Given the description of an element on the screen output the (x, y) to click on. 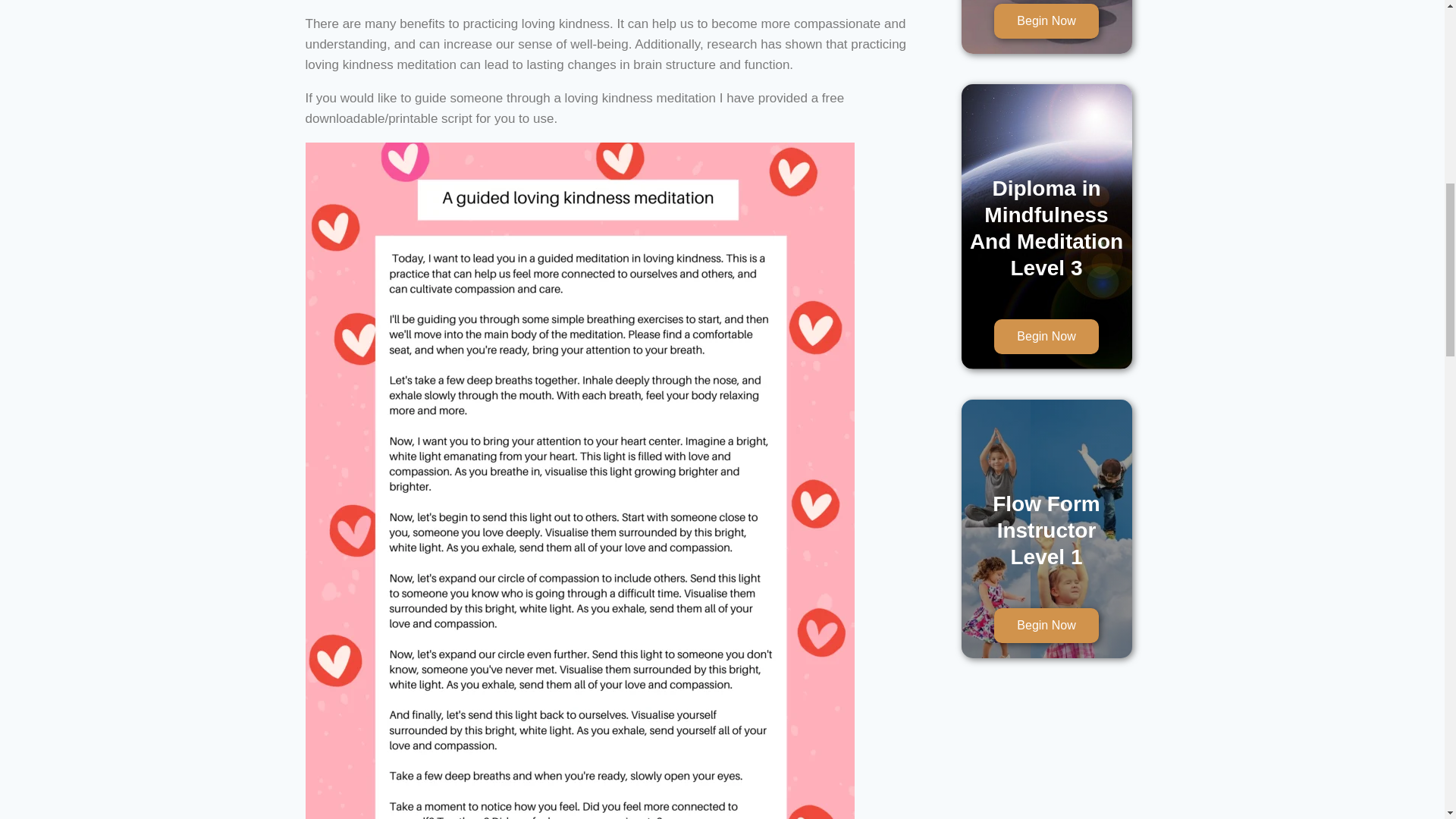
Begin Now (1045, 21)
Begin Now (1045, 625)
Begin Now (1045, 336)
